Given the description of an element on the screen output the (x, y) to click on. 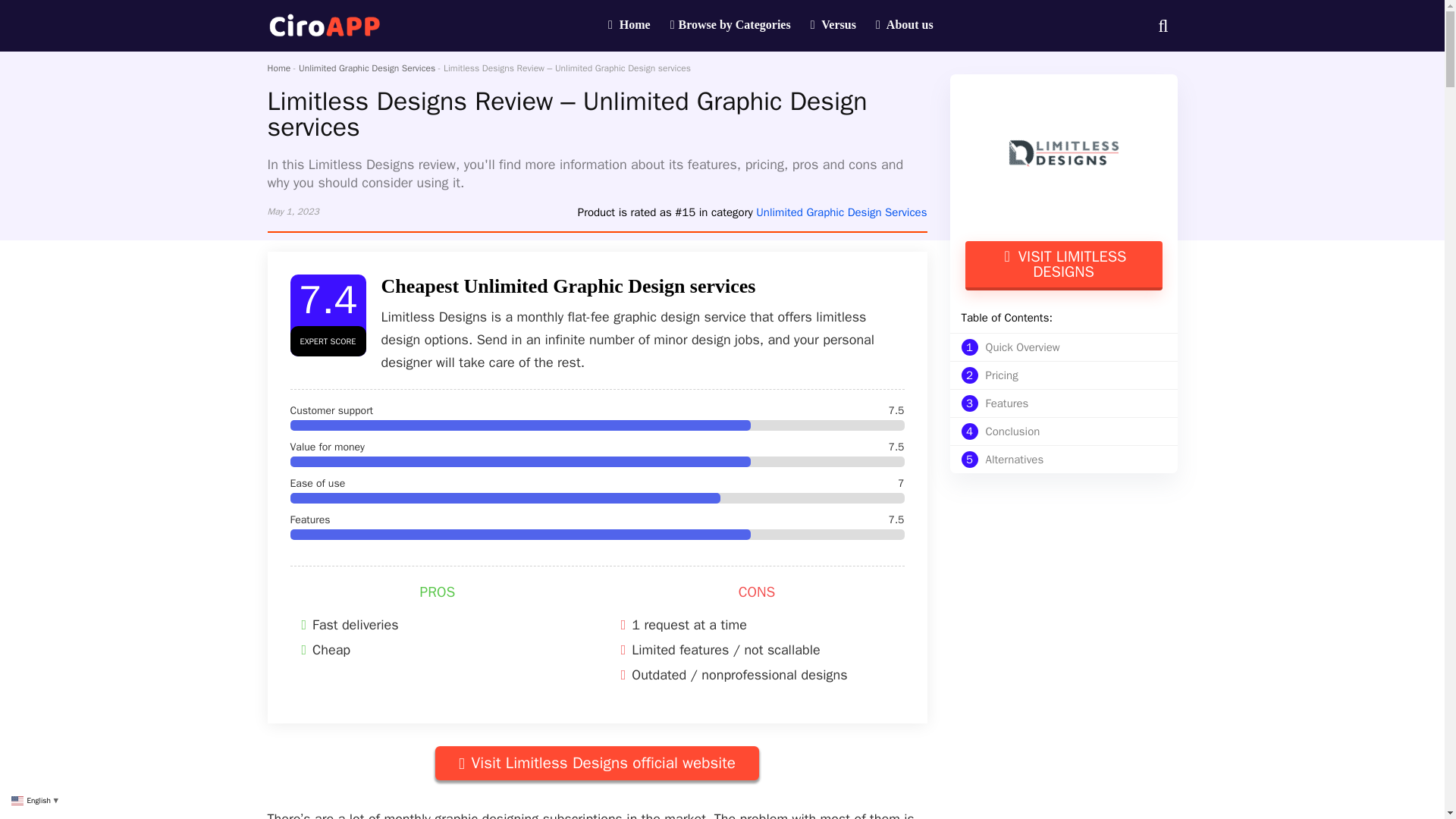
Home (1059, 375)
Home (1059, 459)
About us (1059, 402)
VISIT LIMITLESS DESIGNS (277, 68)
Visit Limitless Designs official website (629, 25)
Browse by Categories (904, 25)
Versus (1062, 265)
Unlimited Graphic Design Services (596, 763)
Unlimited Graphic Design Services (730, 25)
